Given the description of an element on the screen output the (x, y) to click on. 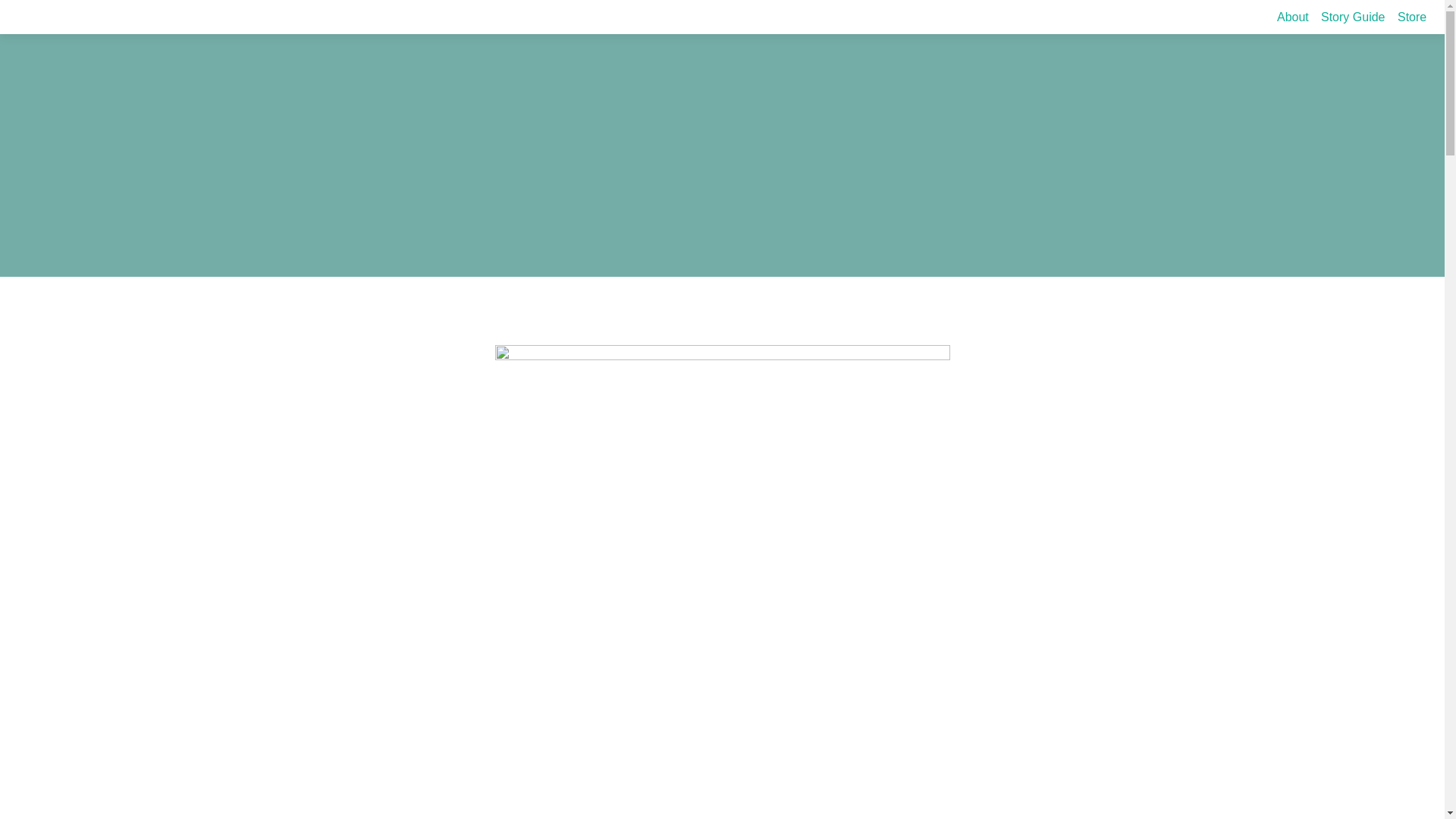
About (1292, 16)
About (1292, 16)
Store (1411, 16)
Story Guide (1352, 16)
Store (1411, 16)
Story Guide (1352, 16)
